Given the description of an element on the screen output the (x, y) to click on. 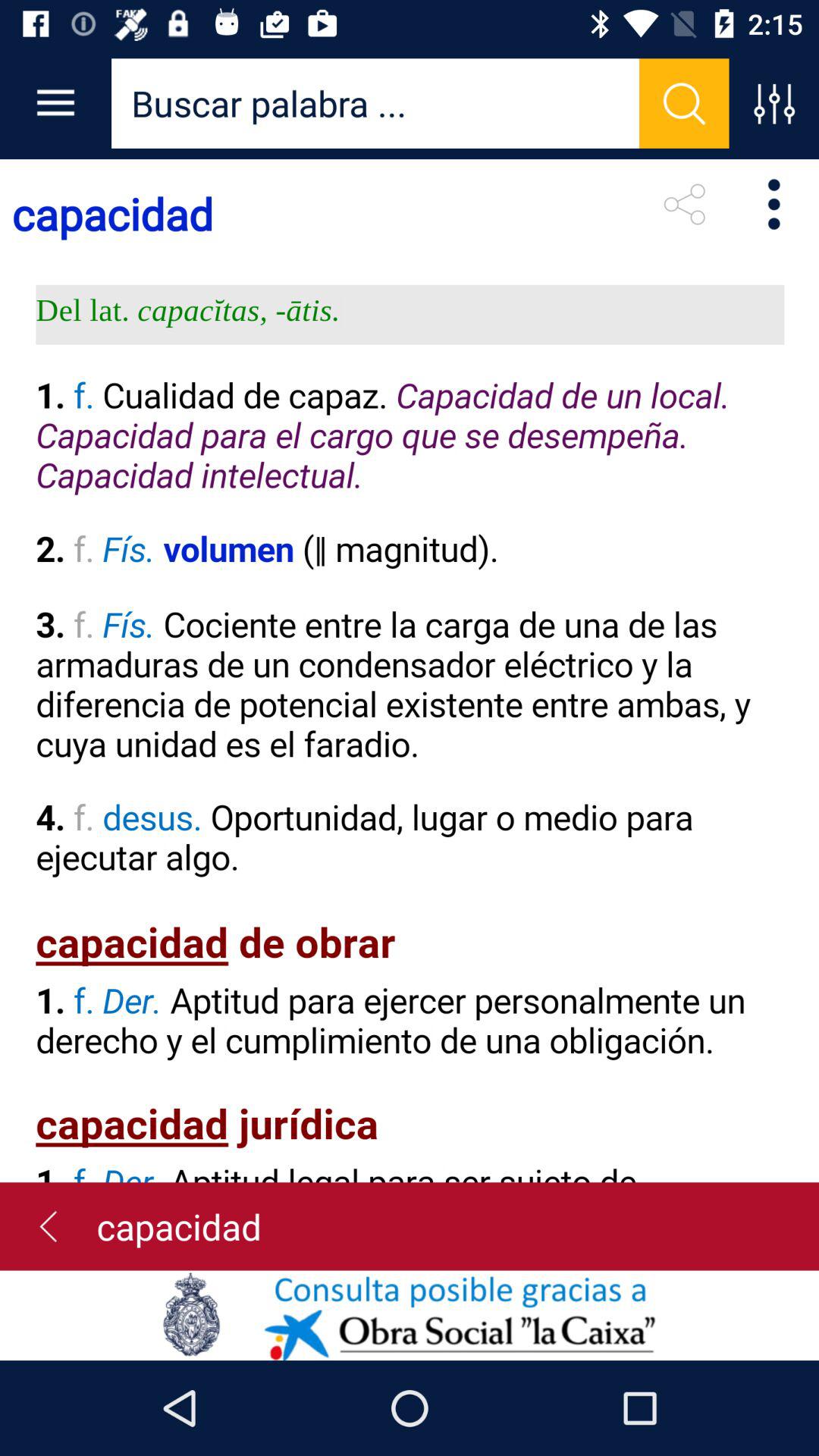
share result (684, 204)
